Given the description of an element on the screen output the (x, y) to click on. 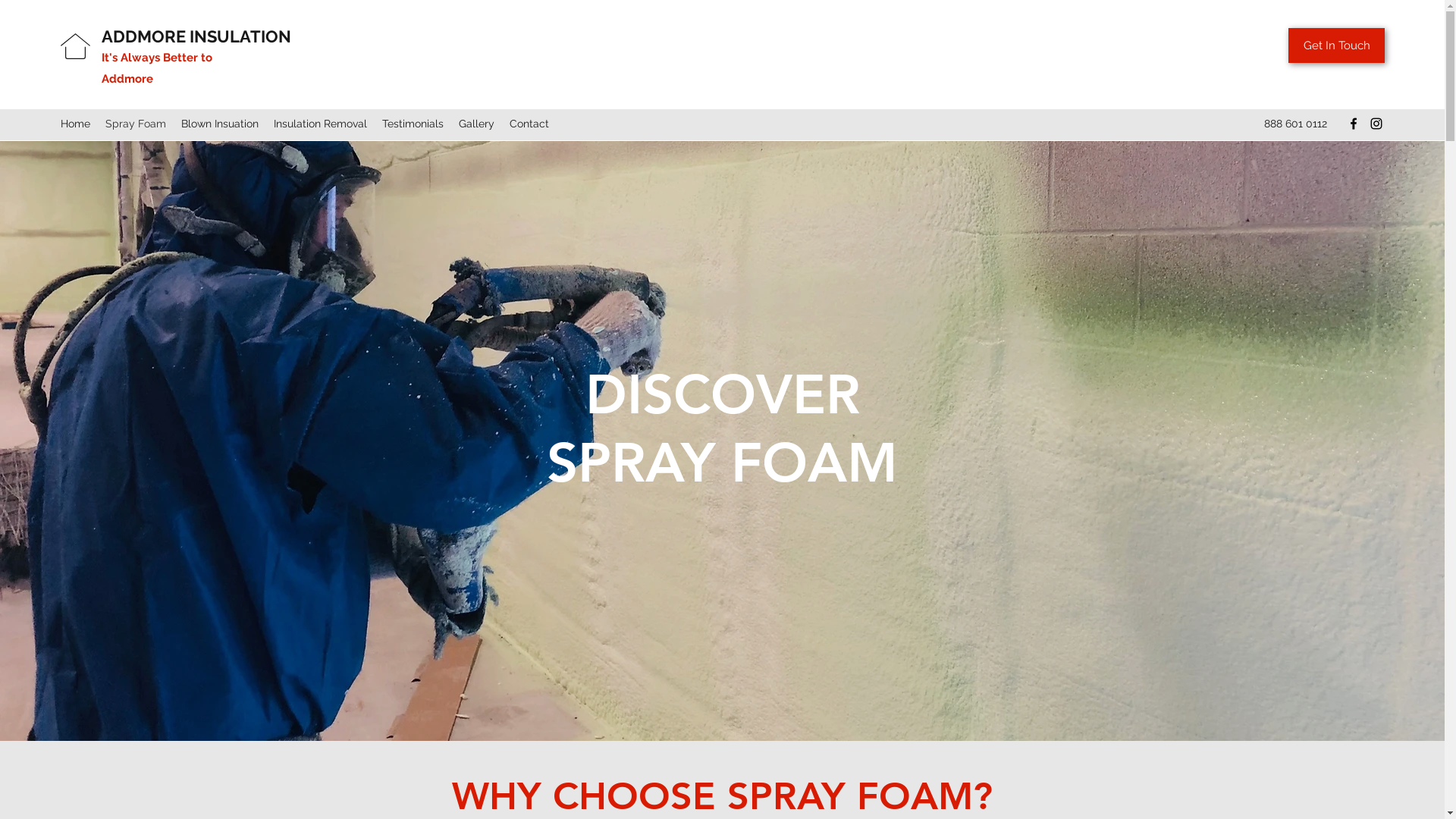
Contact Element type: text (529, 123)
Insulation Removal Element type: text (320, 123)
It's Always Better to Addmore Element type: text (156, 67)
Gallery Element type: text (476, 123)
ADDMORE INSULATION Element type: text (196, 36)
Home Element type: text (75, 123)
Blown Insuation Element type: text (219, 123)
Get In Touch Element type: text (1336, 45)
Testimonials Element type: text (412, 123)
Spray Foam Element type: text (135, 123)
